Given the description of an element on the screen output the (x, y) to click on. 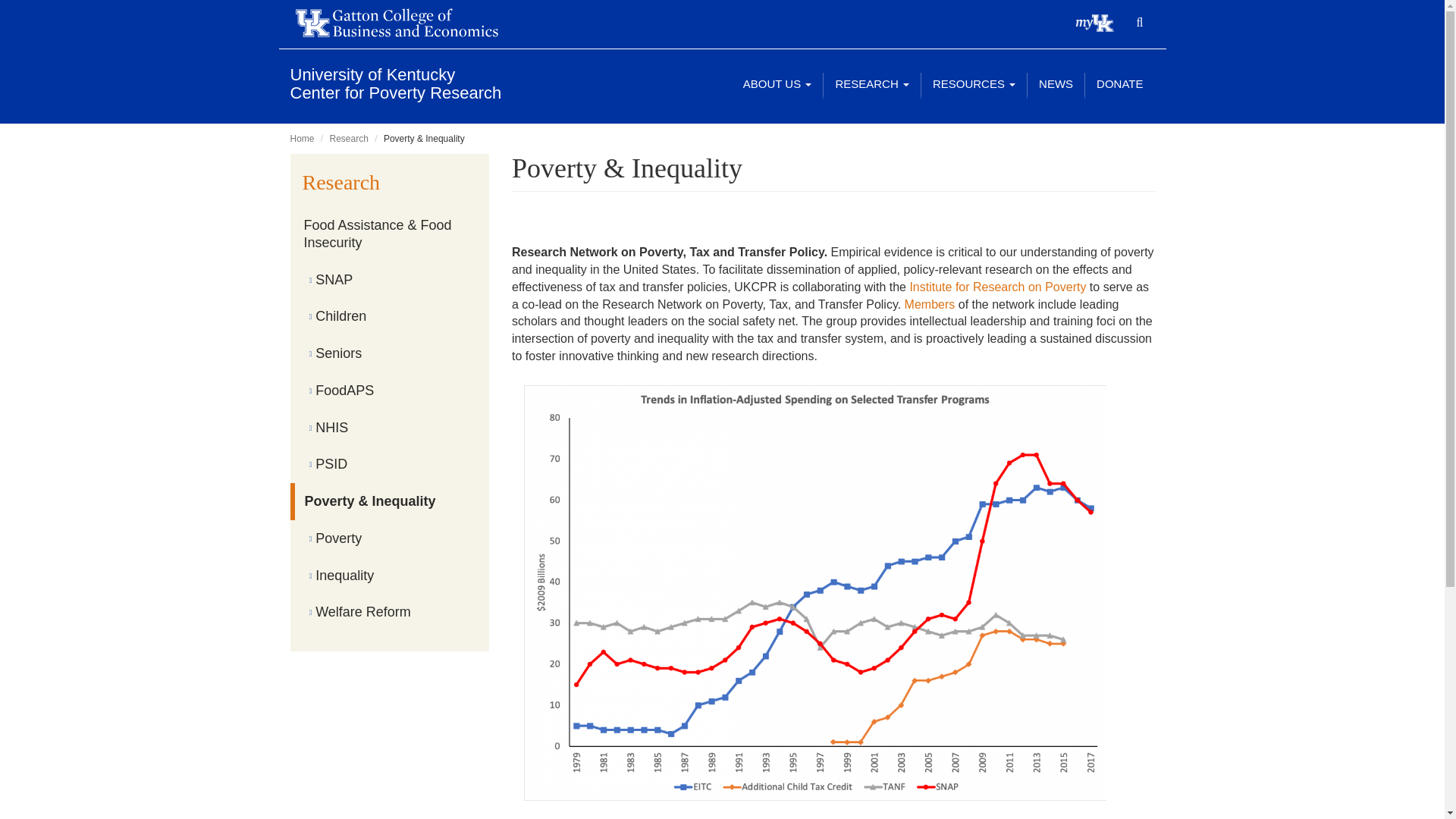
NEWS (1055, 83)
Inequality (389, 575)
NHIS (389, 427)
DONATE (394, 83)
Poverty (1119, 83)
Members (389, 538)
Home (929, 304)
University of Kentucky Center for Poverty Research (301, 138)
Welfare Reform (394, 83)
SNAP (389, 611)
UK Gatton College of Business and Economics (389, 279)
RESEARCH (402, 22)
Children (872, 83)
myUK (389, 316)
